Given the description of an element on the screen output the (x, y) to click on. 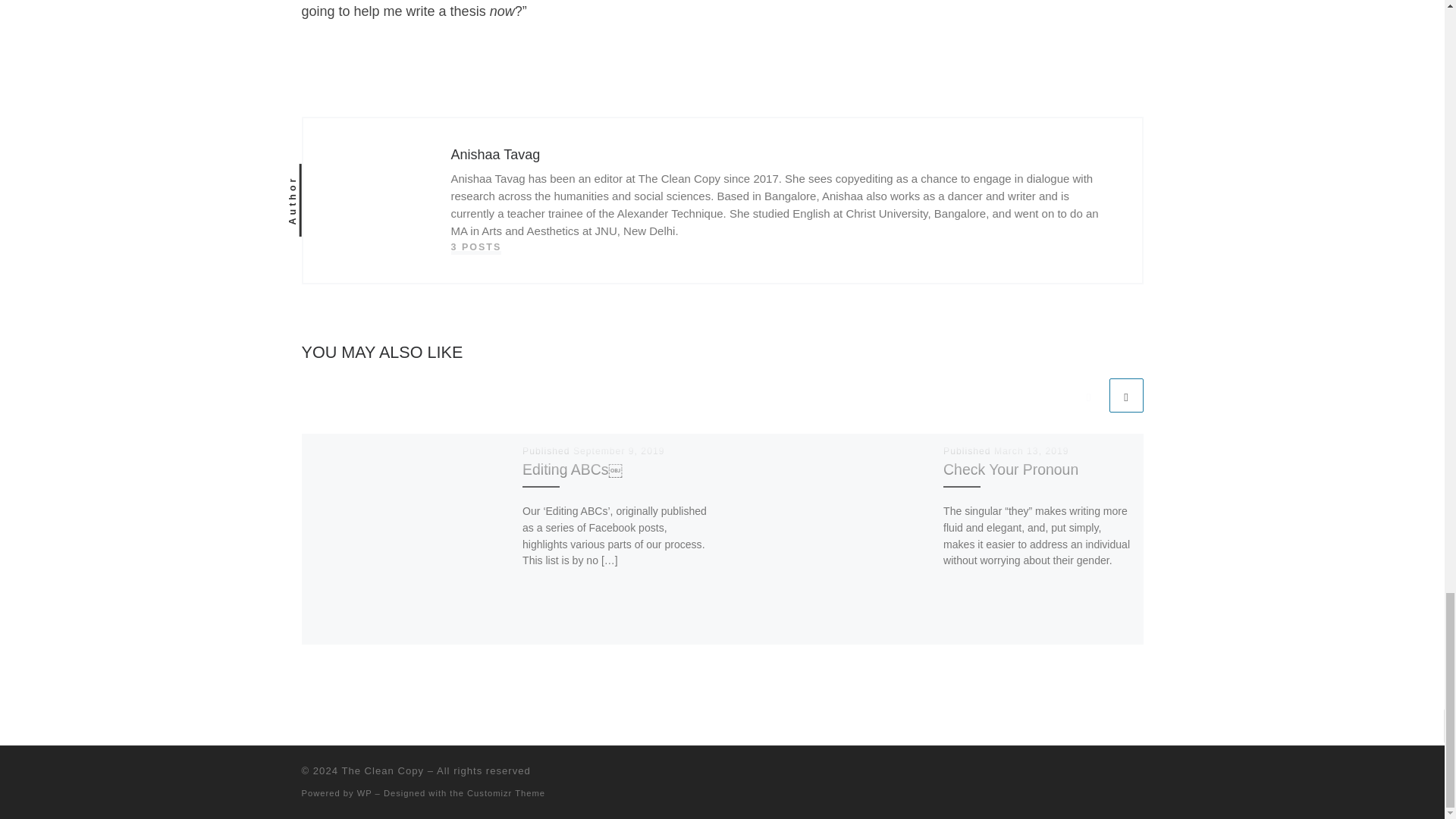
Customizr Theme (505, 792)
3 POSTS (474, 247)
Next related articles (1125, 395)
View all the posts of the author (474, 247)
Previous related articles (1088, 395)
The Clean Copy (381, 770)
September 9, 2019 (619, 450)
The Clean Copy (381, 770)
Check Your Pronoun (1010, 469)
